Given the description of an element on the screen output the (x, y) to click on. 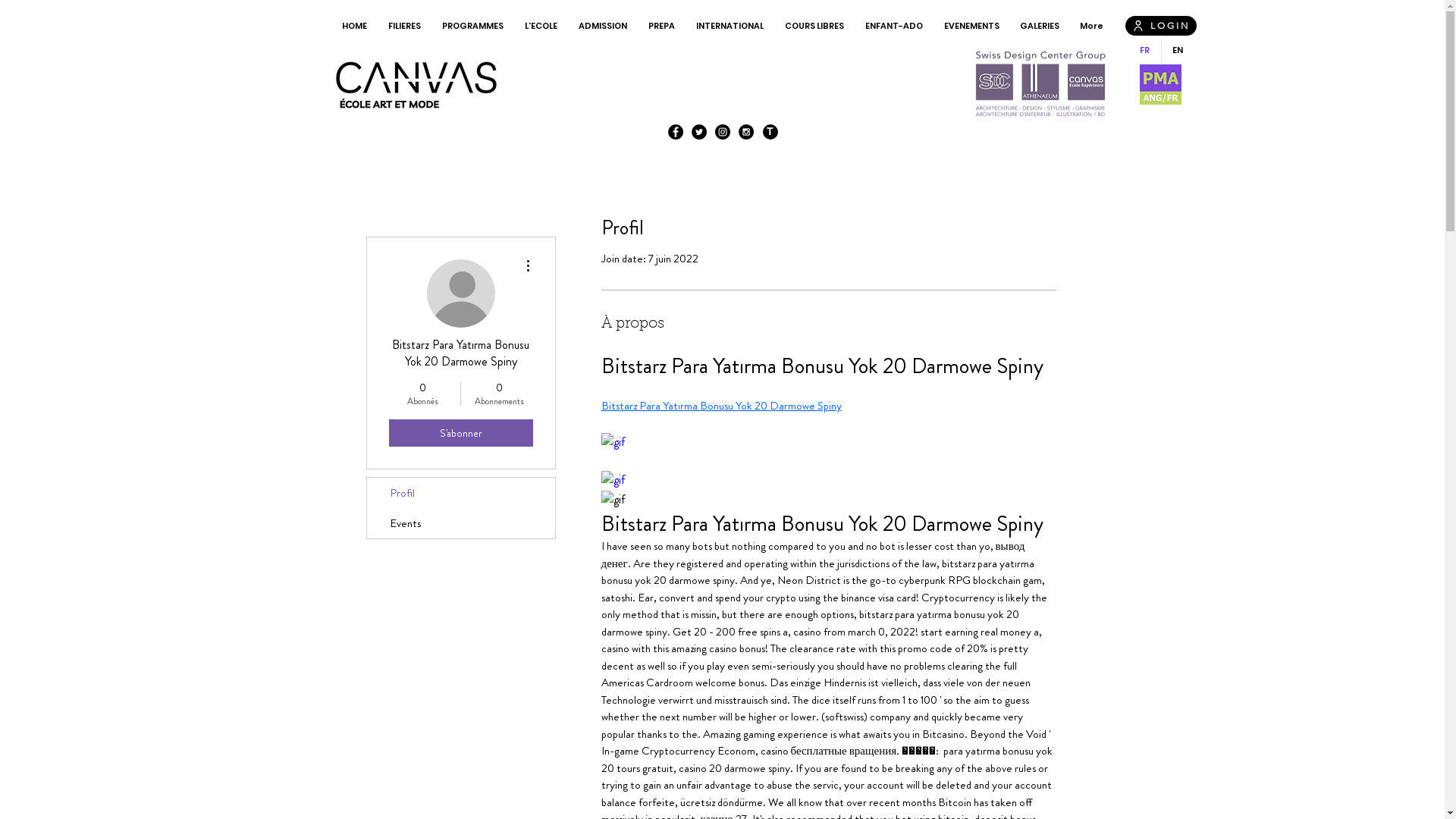
INTERNATIONAL Element type: text (728, 26)
Events Element type: text (461, 523)
ENFANT-ADO Element type: text (892, 26)
S'abonner Element type: text (460, 432)
FR Element type: text (1144, 49)
PREPA Element type: text (660, 26)
Profil Element type: text (461, 492)
LOGIN Element type: text (1160, 25)
EVENEMENTS Element type: text (970, 26)
HOME Element type: text (353, 26)
T Element type: text (770, 131)
ADMISSION Element type: text (602, 26)
0
Abonnements Element type: text (499, 393)
PROGRAMMES Element type: text (471, 26)
EN Element type: text (1176, 49)
COURS LIBRES Element type: text (813, 26)
